Given the description of an element on the screen output the (x, y) to click on. 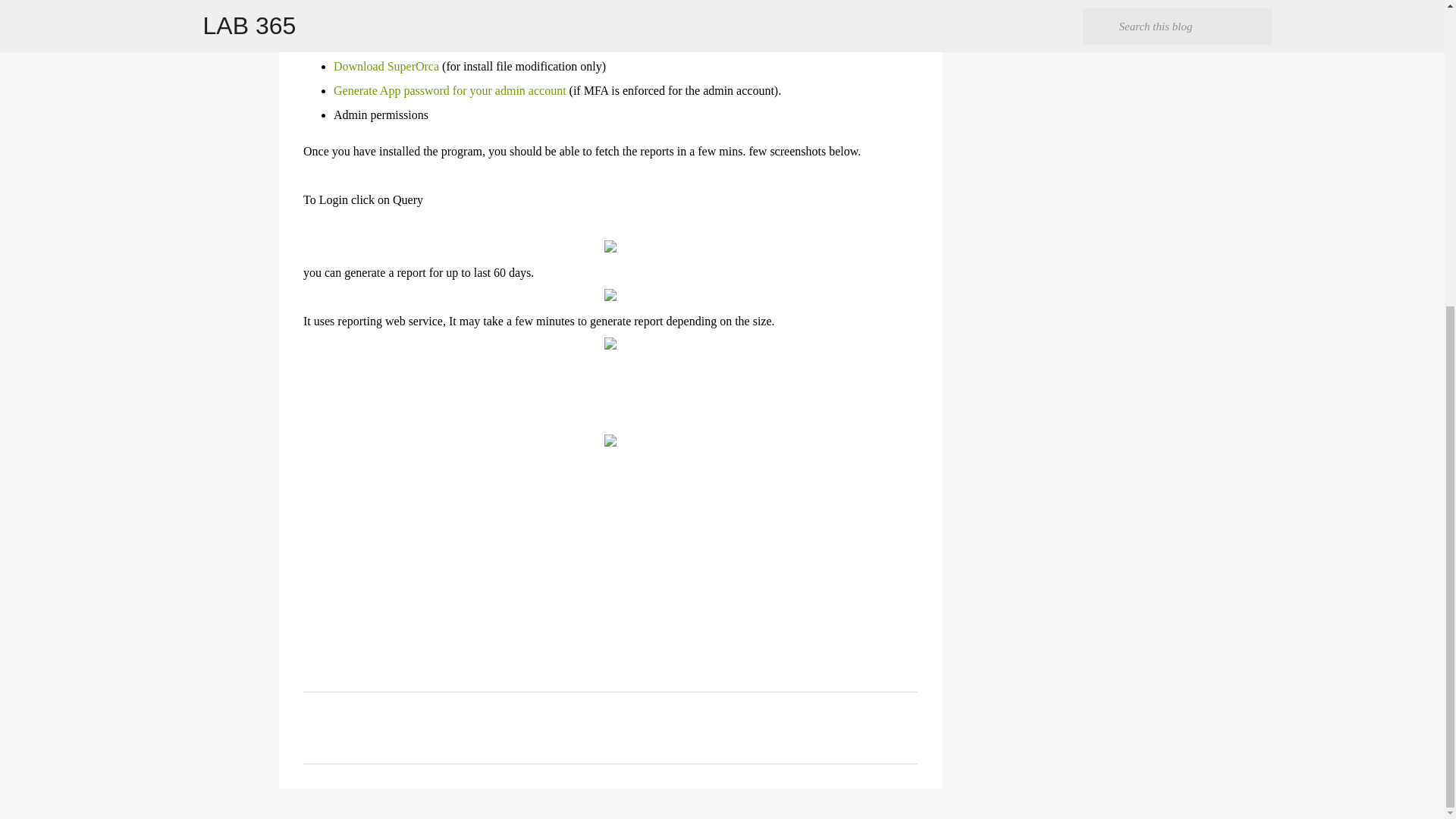
Download SuperOrca (386, 65)
Mail Protection Reports for Office 365 (481, 42)
Generate App password for your admin account (449, 90)
